Given the description of an element on the screen output the (x, y) to click on. 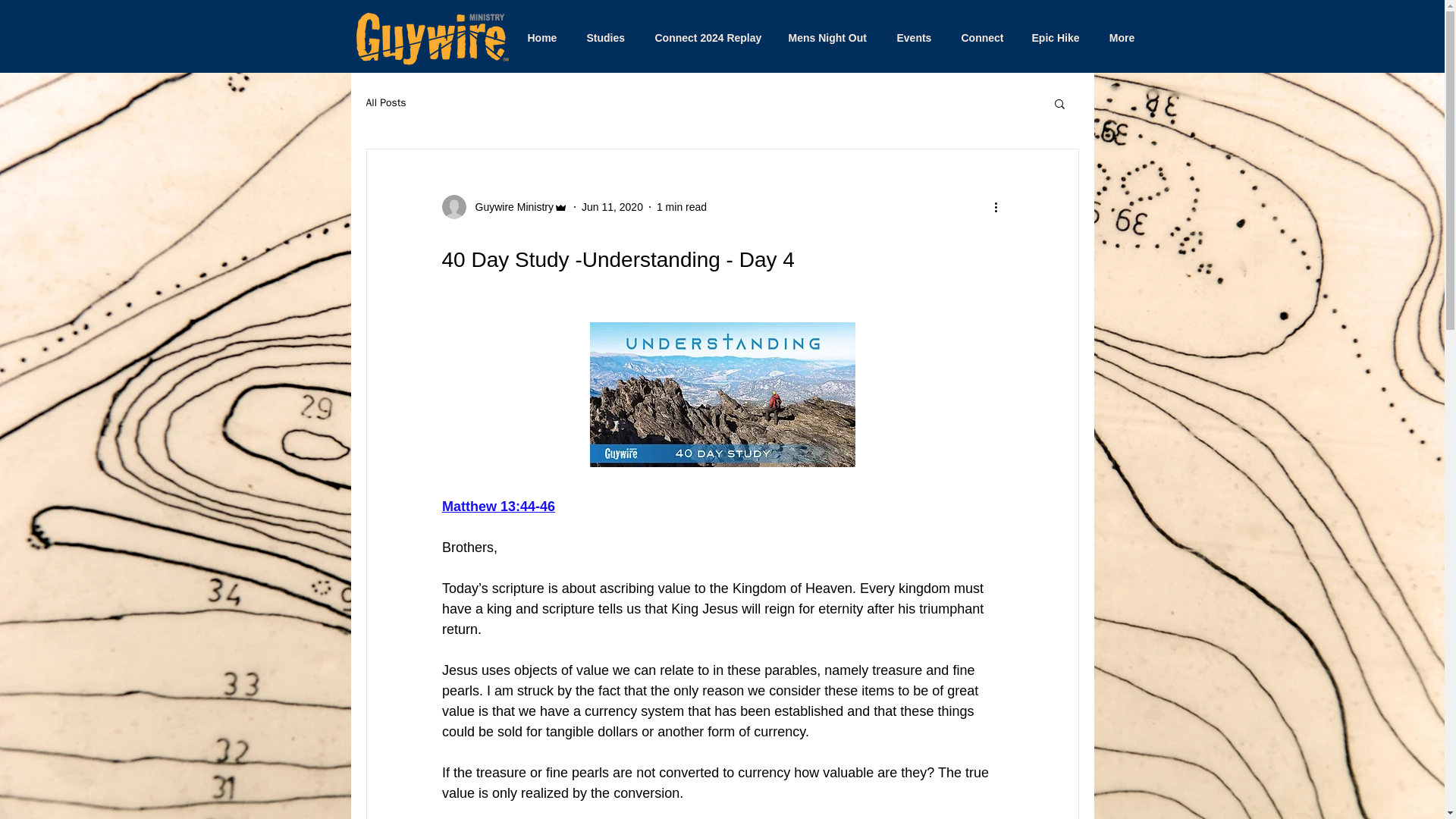
Matthew 13:44-46 (497, 506)
Events (912, 37)
Mens Night Out (827, 37)
Guywire Ministry (509, 206)
Jun 11, 2020 (611, 205)
Guywire Ministry (504, 206)
Connect (981, 37)
Home (542, 37)
All Posts (385, 102)
Epic Hike (1054, 37)
Studies (606, 37)
1 min read (681, 205)
Connect 2024 Replay (706, 37)
